Given the description of an element on the screen output the (x, y) to click on. 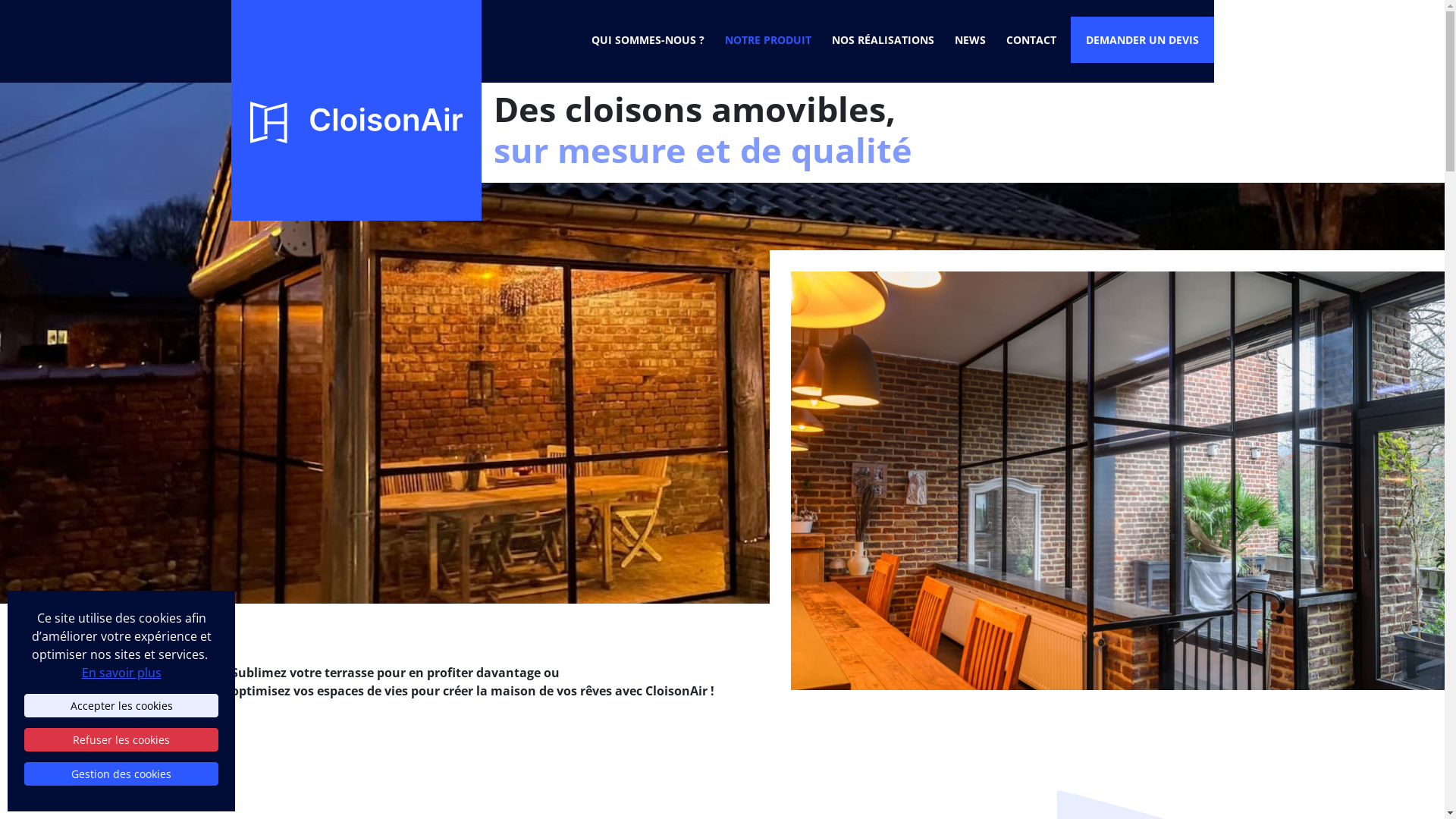
En savoir plus Element type: text (121, 672)
Gestion des cookies Element type: text (121, 773)
CONTACT Element type: text (1030, 39)
DEMANDER UN DEVIS Element type: text (1142, 39)
QUI SOMMES-NOUS ? Element type: text (647, 39)
NOTRE PRODUIT Element type: text (767, 39)
Accepter les cookies Element type: text (121, 705)
Refuser les cookies Element type: text (121, 739)
NEWS Element type: text (969, 39)
